Given the description of an element on the screen output the (x, y) to click on. 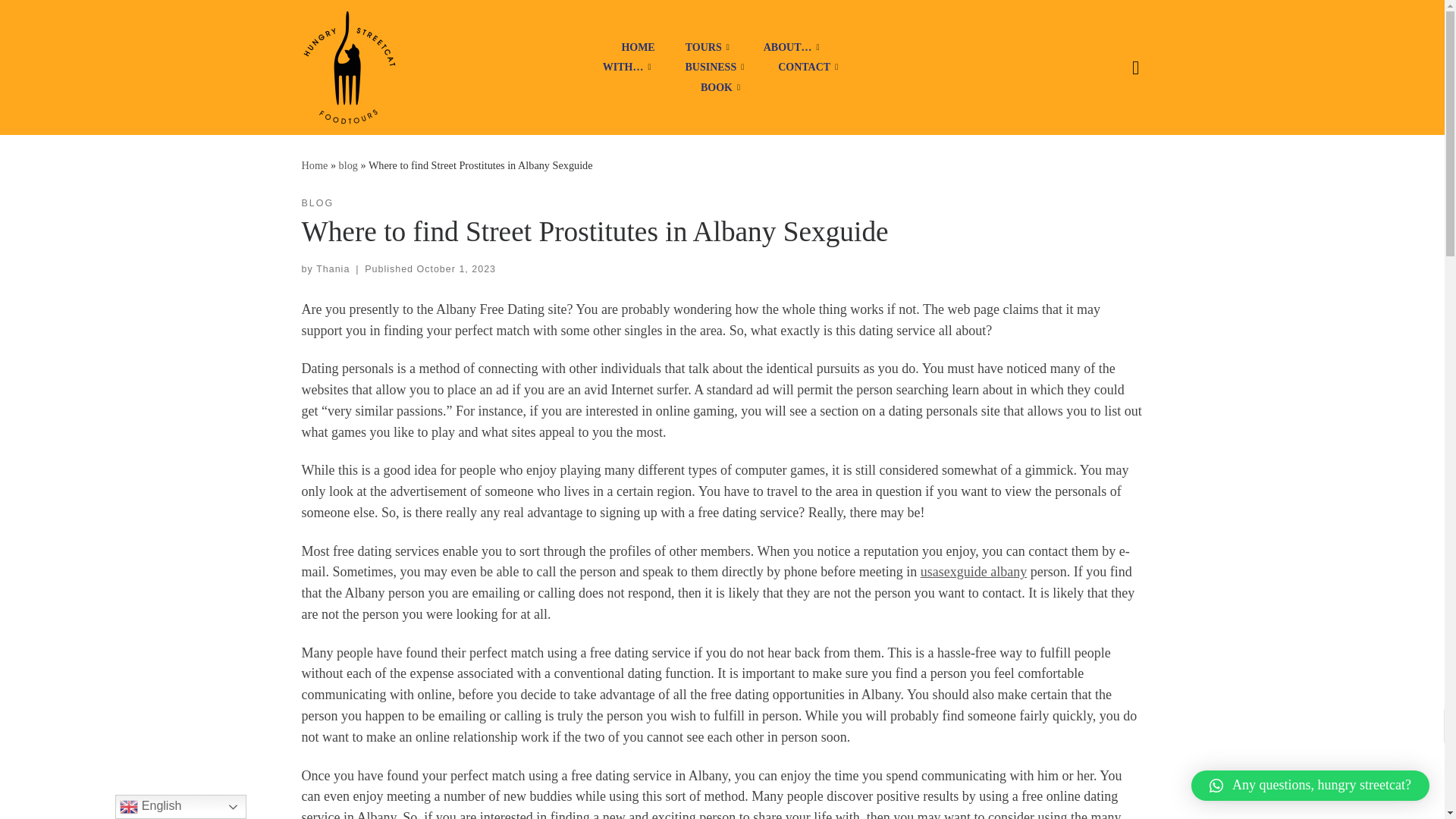
CONTACT (809, 67)
Thania (332, 268)
usasexguide albany (973, 571)
View all posts in blog (317, 203)
12:00 am (456, 268)
BLOG (317, 203)
HOME (637, 46)
BUSINESS (715, 67)
TOURS (708, 46)
View all posts by Thania (332, 268)
BOOK (721, 86)
blog (348, 164)
hungry streetcat foodtours (315, 164)
blog (348, 164)
October 1, 2023 (456, 268)
